Given the description of an element on the screen output the (x, y) to click on. 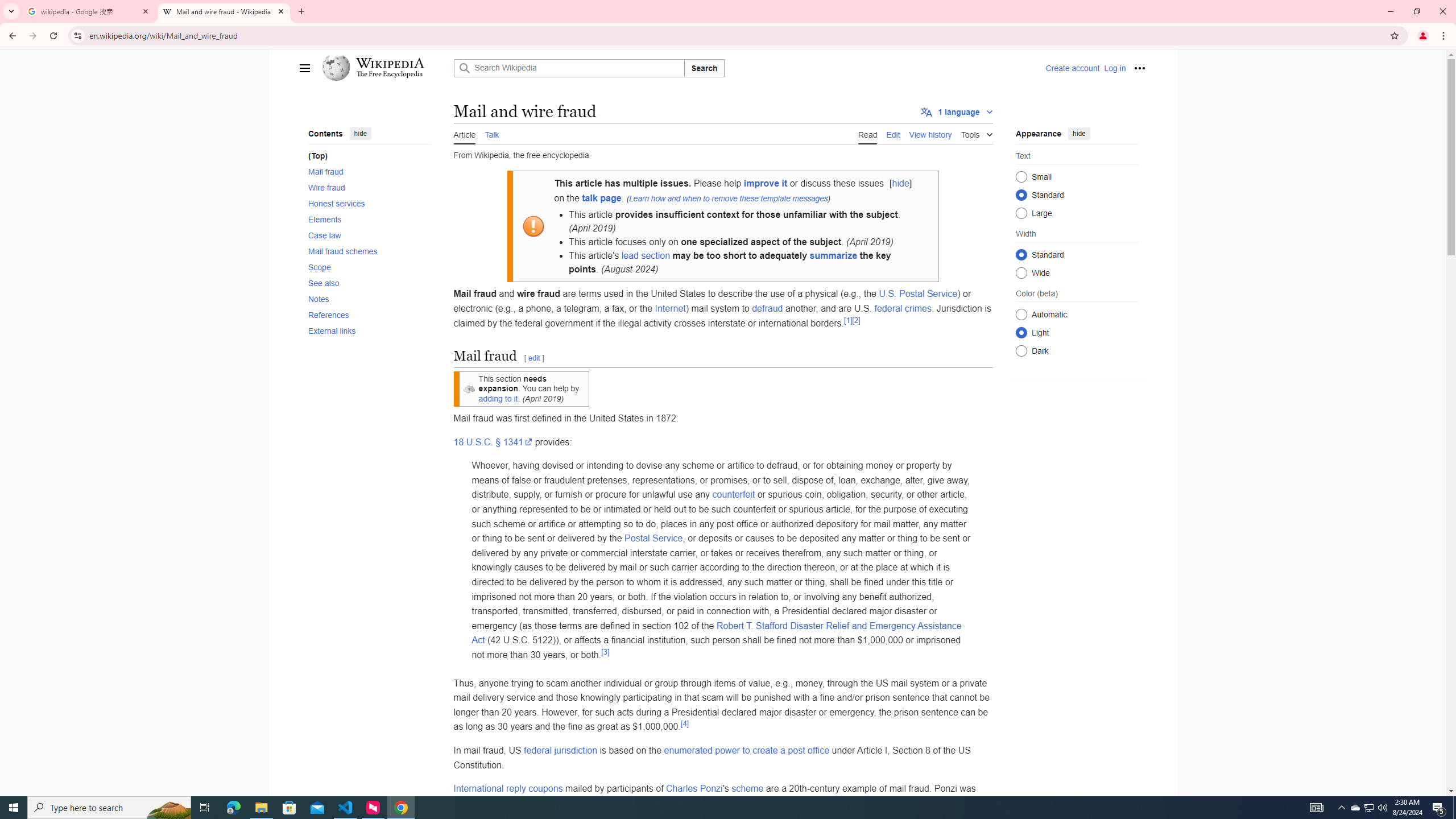
View history (930, 133)
AutomationID: ca-history (930, 133)
Postal Service (653, 538)
AutomationID: ca-talk (491, 133)
Honest services (368, 202)
AutomationID: toc-Honest_services (365, 202)
[4] (683, 723)
improve it (765, 183)
AutomationID: pt-login-2 (1114, 67)
counterfeit (733, 494)
[hide] (900, 183)
[3] (605, 651)
